Given the description of an element on the screen output the (x, y) to click on. 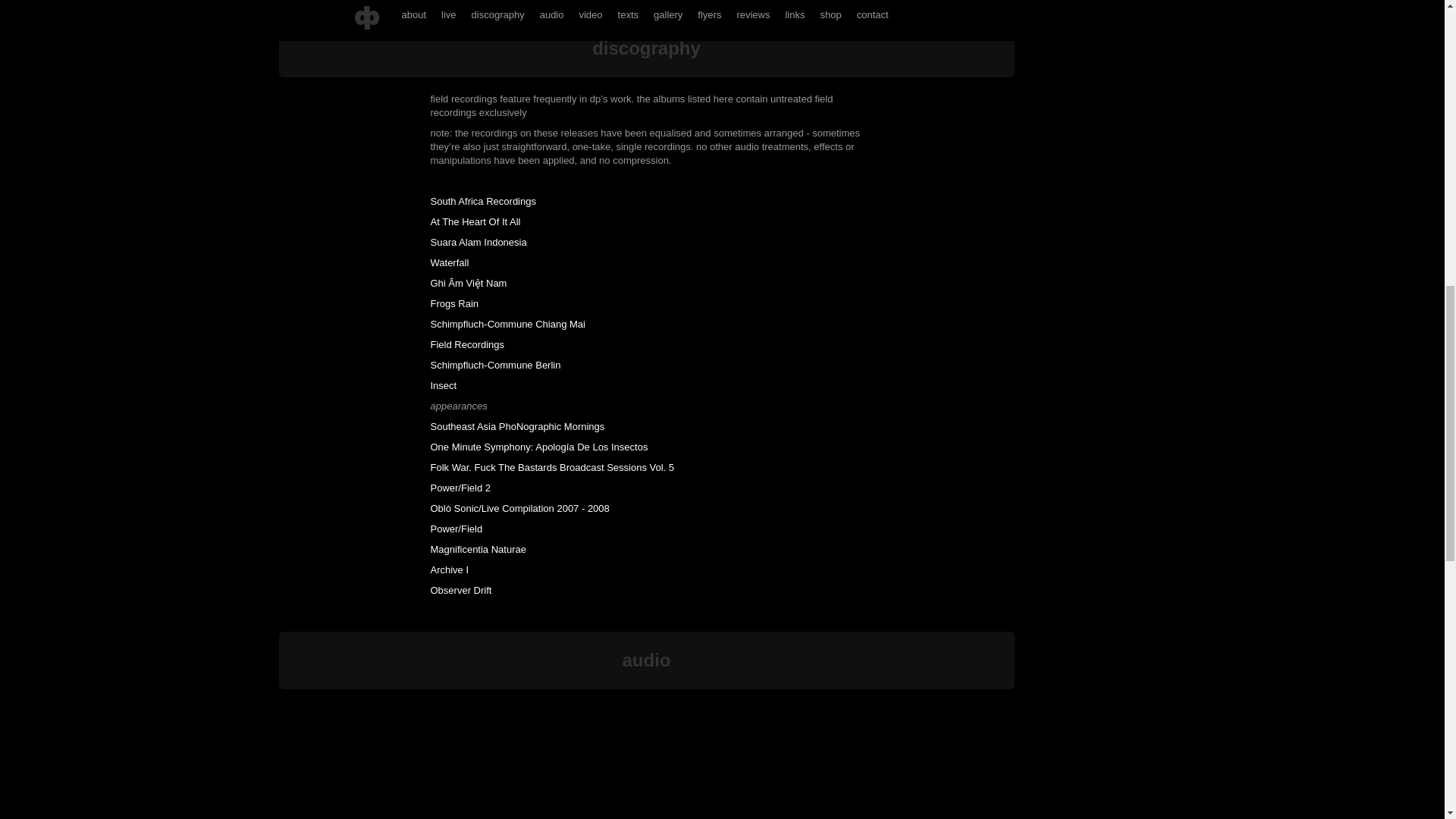
Schimpfluch-Commune Berlin (495, 365)
Southeast Asia PhoNographic Mornings (517, 426)
Schimpfluch-Commune Chiang Mai (507, 324)
Frogs Rain (454, 303)
Magnificentia Naturae (477, 549)
Waterfall (449, 262)
Folk War. Fuck The Bastards Broadcast Sessions Vol. 5 (552, 467)
At The Heart Of It All (475, 221)
Insect (443, 385)
Observer Drift (461, 590)
Field Recordings (467, 344)
Archive I (449, 569)
Suara Alam Indonesia (478, 242)
South Africa Recordings (482, 201)
